Given the description of an element on the screen output the (x, y) to click on. 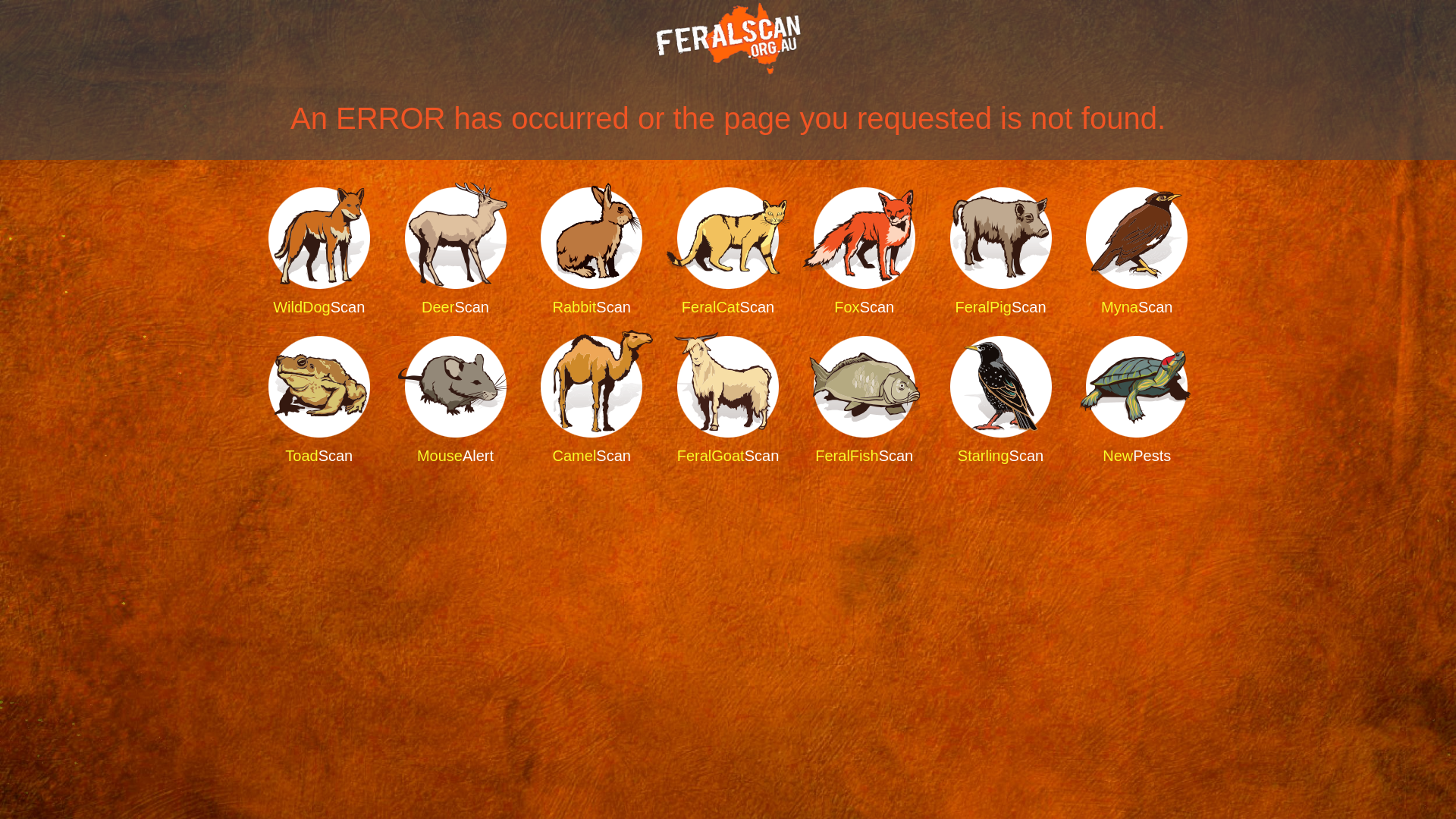
WildDogScan Element type: text (318, 252)
RabbitScan Element type: text (591, 252)
FoxScan Element type: text (864, 252)
FeralGoatScan Element type: text (727, 400)
StarlingScan Element type: text (999, 400)
CamelScan Element type: text (591, 400)
DeerScan Element type: text (455, 252)
ToadScan Element type: text (318, 400)
FeralScan Element type: hover (727, 38)
FeralCatScan Element type: text (727, 252)
FeralFishScan Element type: text (864, 400)
FeralPigScan Element type: text (999, 252)
MouseAlert Element type: text (455, 400)
NewPests Element type: text (1136, 400)
MynaScan Element type: text (1136, 252)
